Given the description of an element on the screen output the (x, y) to click on. 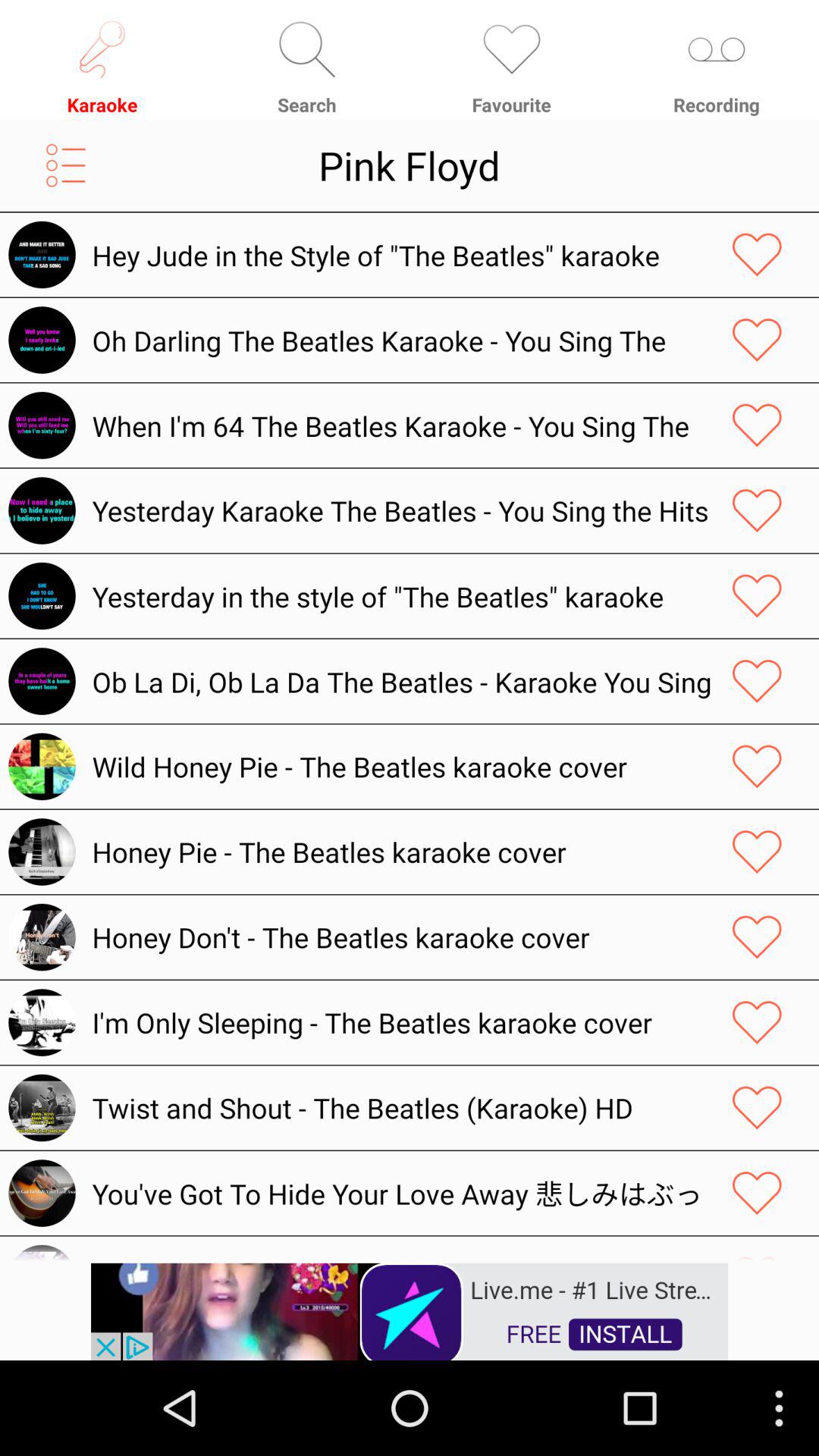
add to favorites (756, 937)
